Given the description of an element on the screen output the (x, y) to click on. 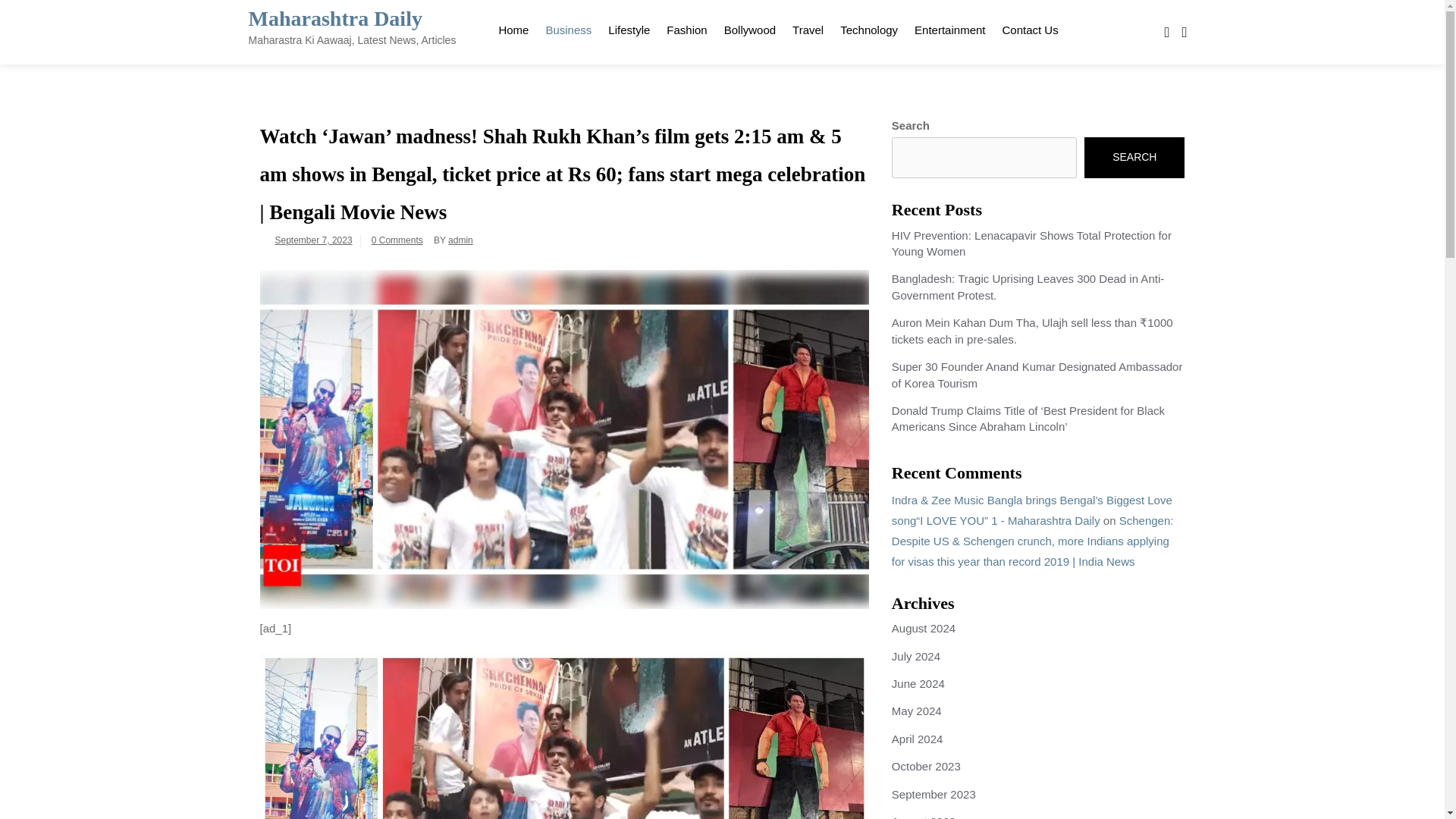
Bollywood (750, 28)
Travel (807, 28)
Technology (868, 28)
Lifestyle (628, 28)
Technology (868, 28)
Contact Us (1028, 28)
Fashion (686, 28)
SEARCH (1134, 157)
Travel (807, 28)
